Given the description of an element on the screen output the (x, y) to click on. 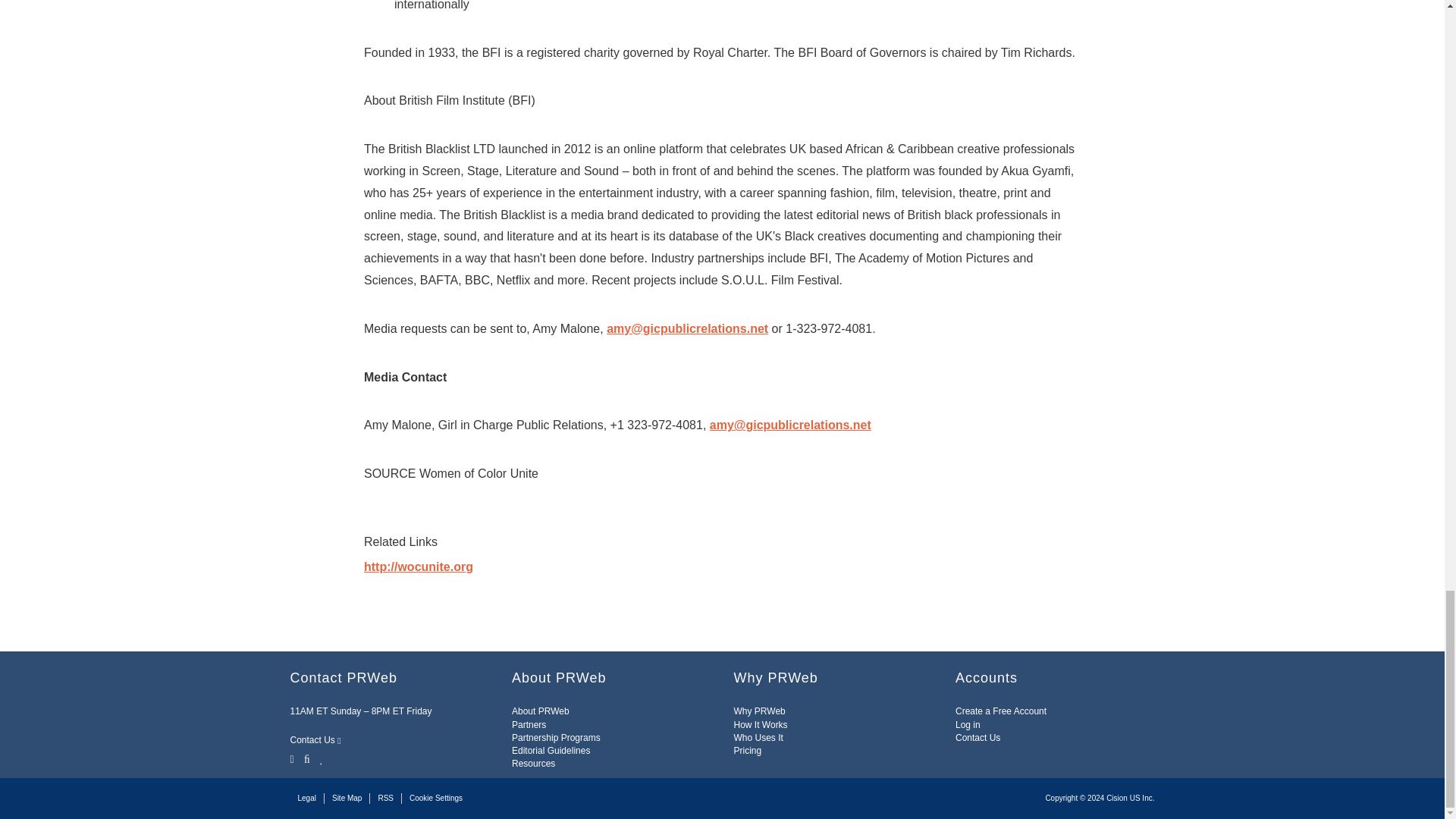
Facebook (306, 758)
Editorial Guidelines (550, 750)
Why PRWeb (759, 710)
Resources (533, 763)
About PRWeb (540, 710)
Partners (529, 724)
Partnership Programs (555, 737)
